Given the description of an element on the screen output the (x, y) to click on. 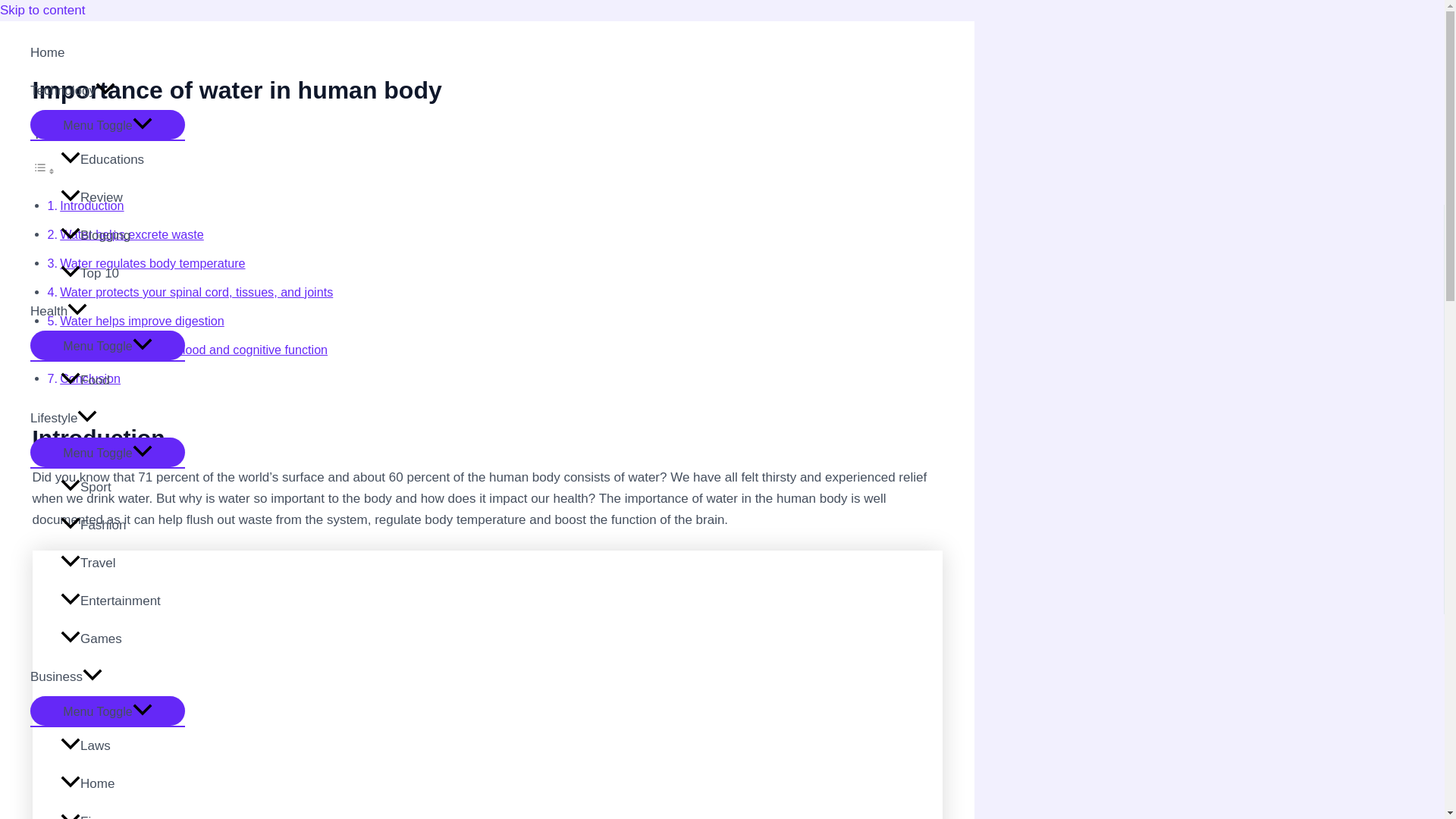
Review (122, 198)
Conclusion (89, 377)
Finance (122, 811)
Laws (122, 745)
Home (107, 53)
Travel (122, 563)
Menu Toggle (107, 451)
Water helps improve digestion (141, 320)
Water protects your spinal cord, tissues, and joints (196, 291)
Sport (122, 487)
